Given the description of an element on the screen output the (x, y) to click on. 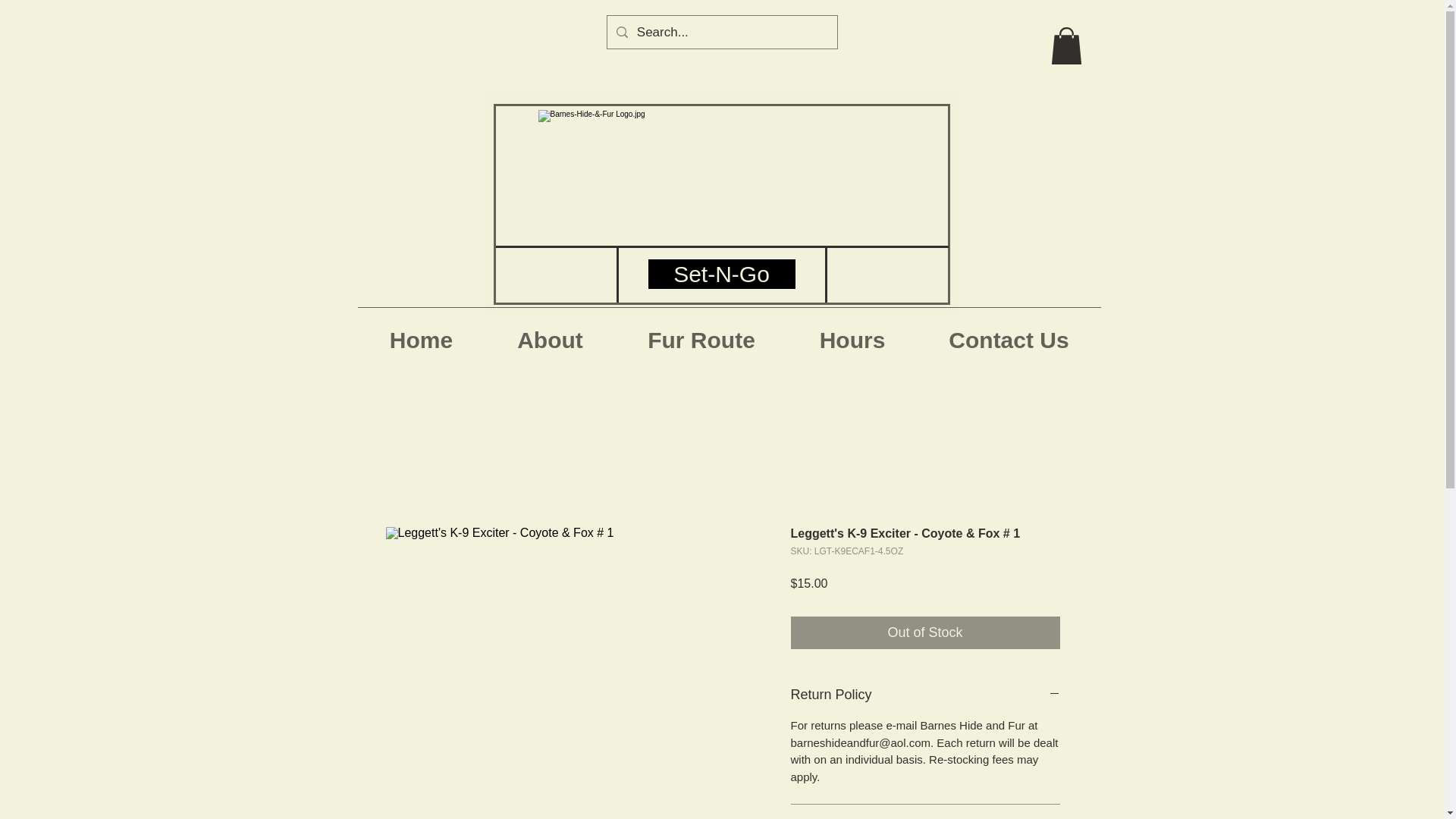
Return Policy (924, 694)
Contact Us (1008, 333)
Set-N-Go (721, 274)
About (549, 333)
Home (421, 333)
Fur Route (701, 333)
Out of Stock (924, 632)
Hours (852, 333)
